Given the description of an element on the screen output the (x, y) to click on. 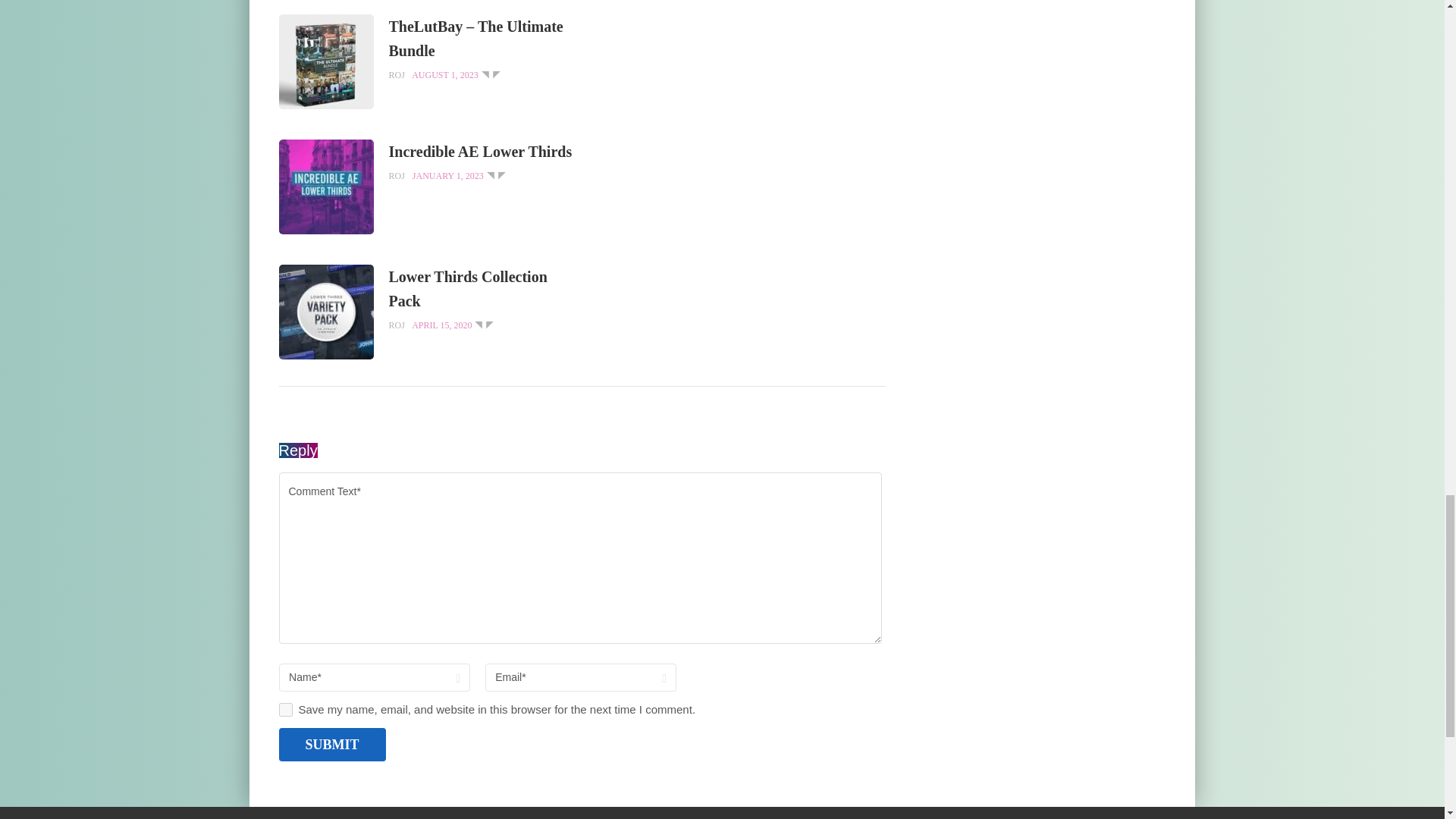
yes (285, 709)
Submit (332, 744)
